Given the description of an element on the screen output the (x, y) to click on. 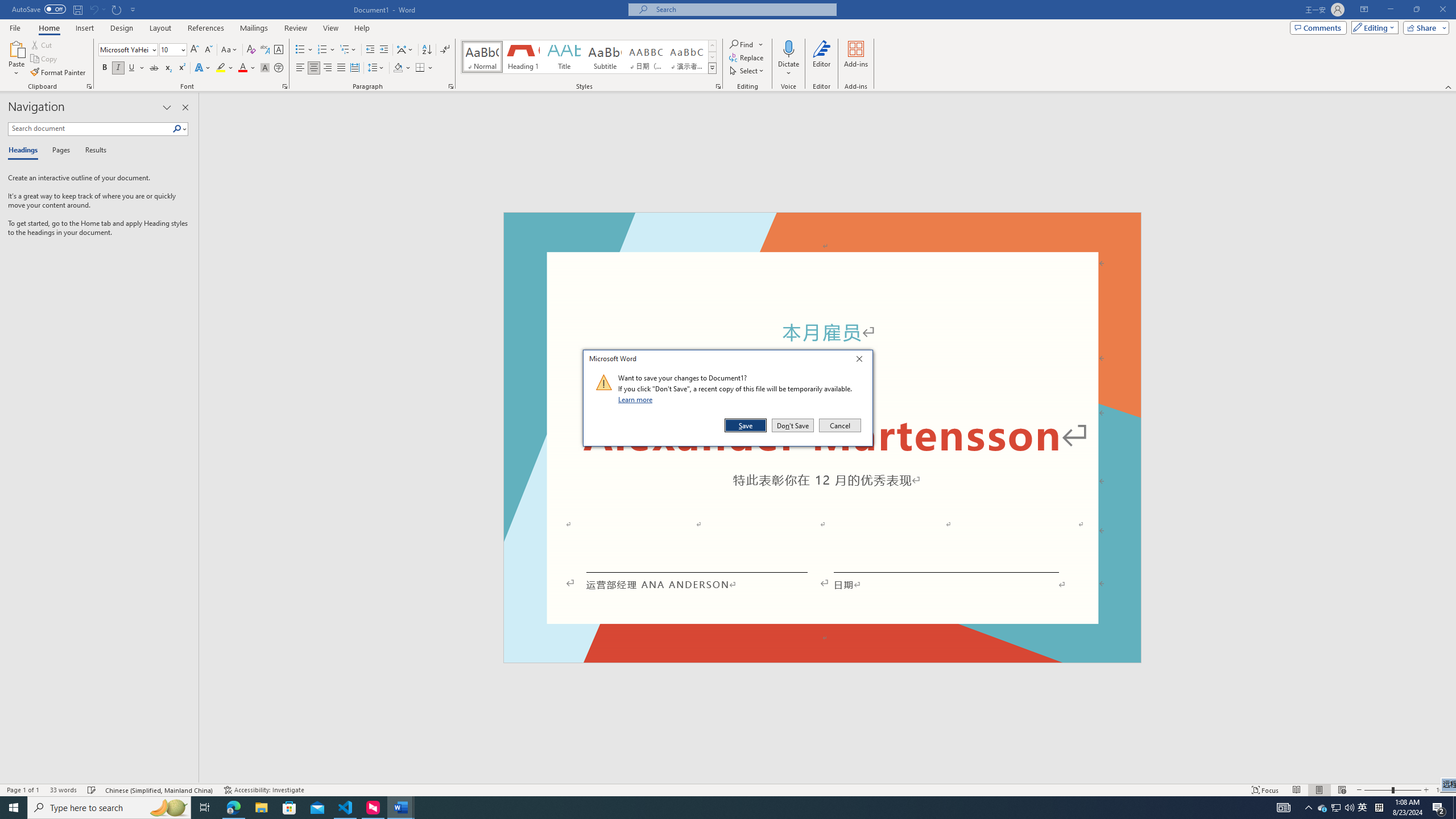
Can't Undo (92, 9)
Strikethrough (154, 67)
Office Clipboard... (88, 85)
Asian Layout (405, 49)
Header -Section 1- (822, 225)
Shading RGB(0, 0, 0) (397, 67)
Pages (59, 150)
Action Center, 2 new notifications (1439, 807)
Show desktop (1454, 807)
Search highlights icon opens search home window (167, 807)
Select (747, 69)
